Given the description of an element on the screen output the (x, y) to click on. 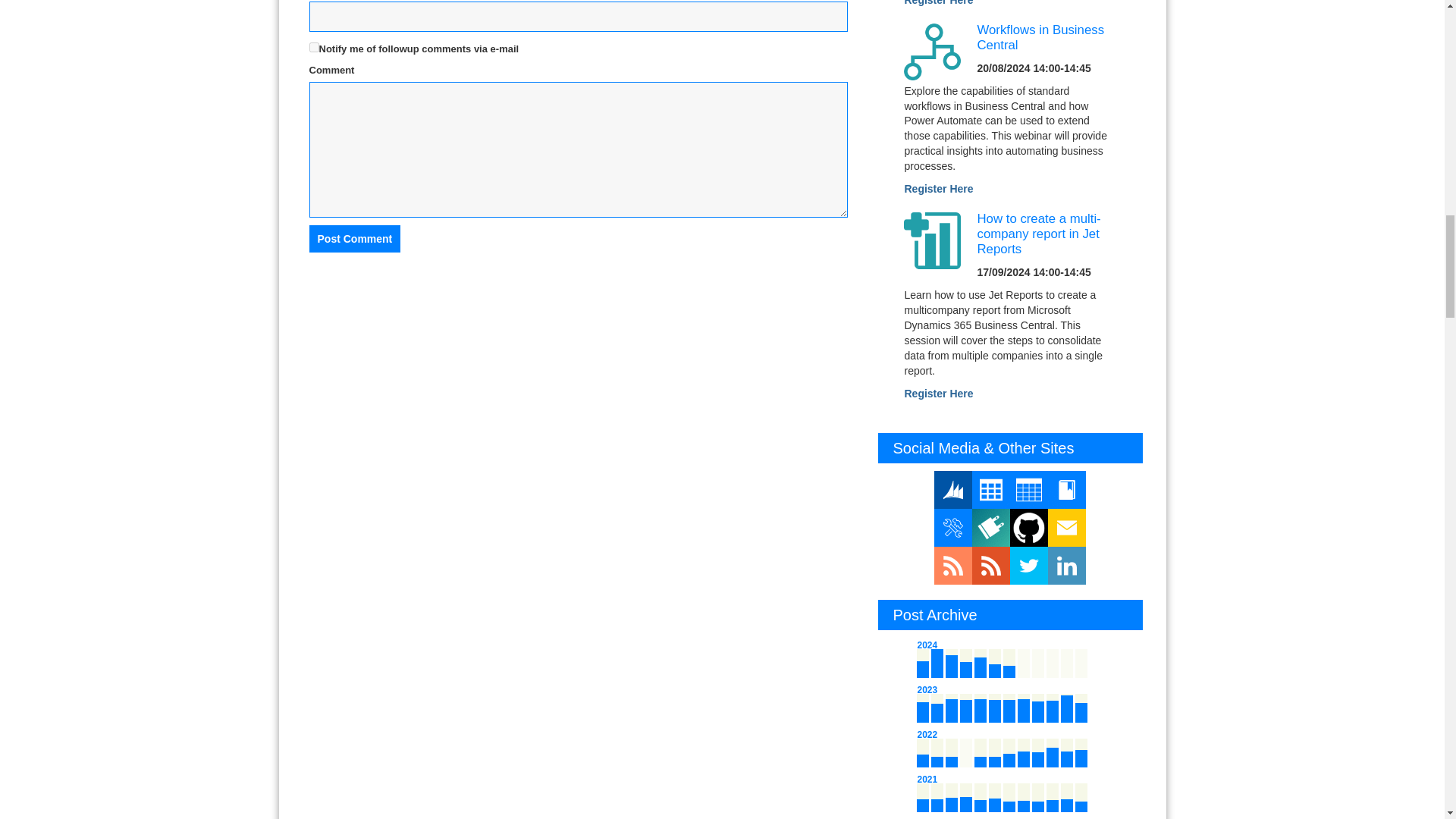
Post Comment (354, 238)
subscribe (313, 47)
